Given the description of an element on the screen output the (x, y) to click on. 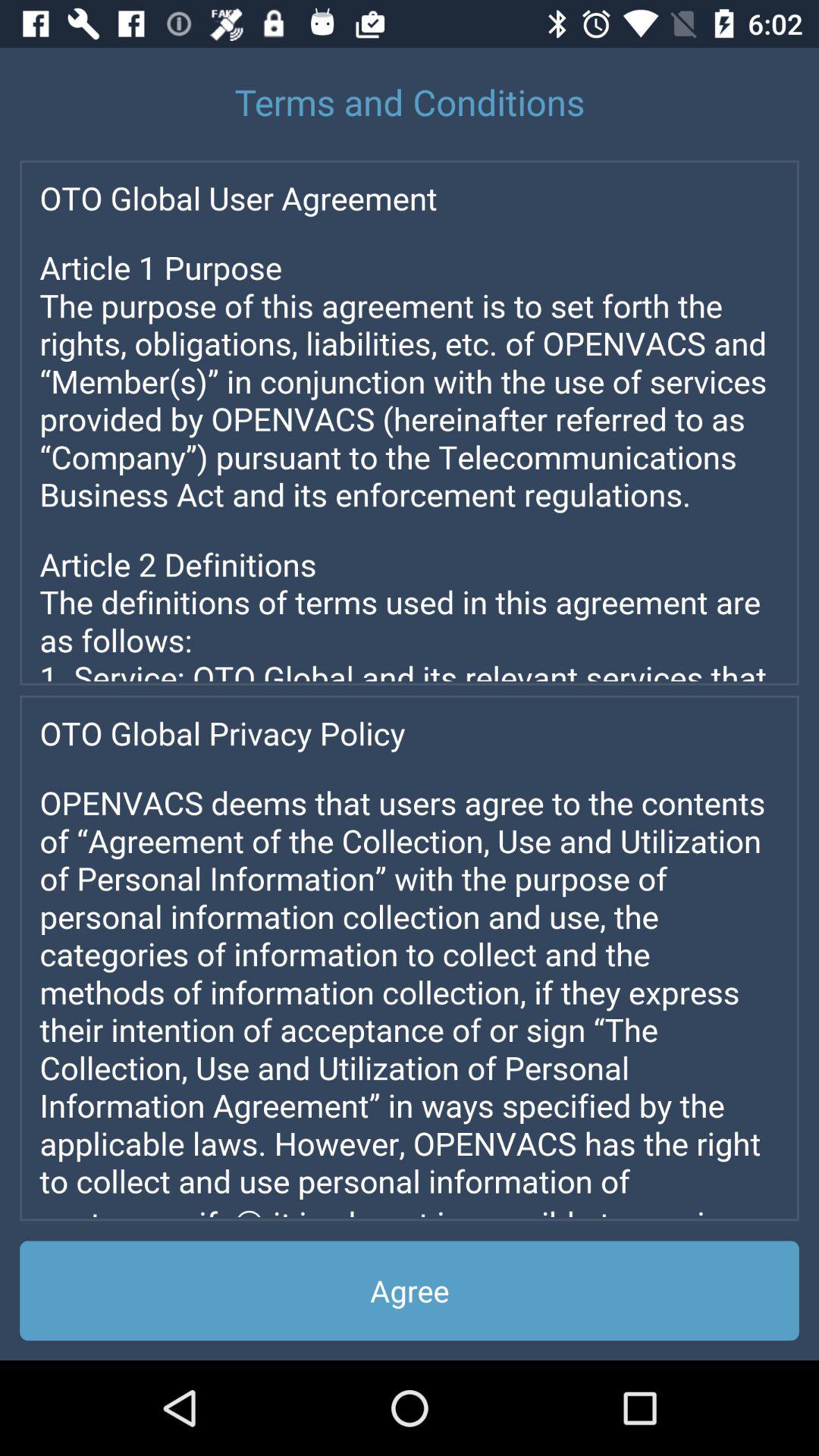
advertisement (409, 958)
